Given the description of an element on the screen output the (x, y) to click on. 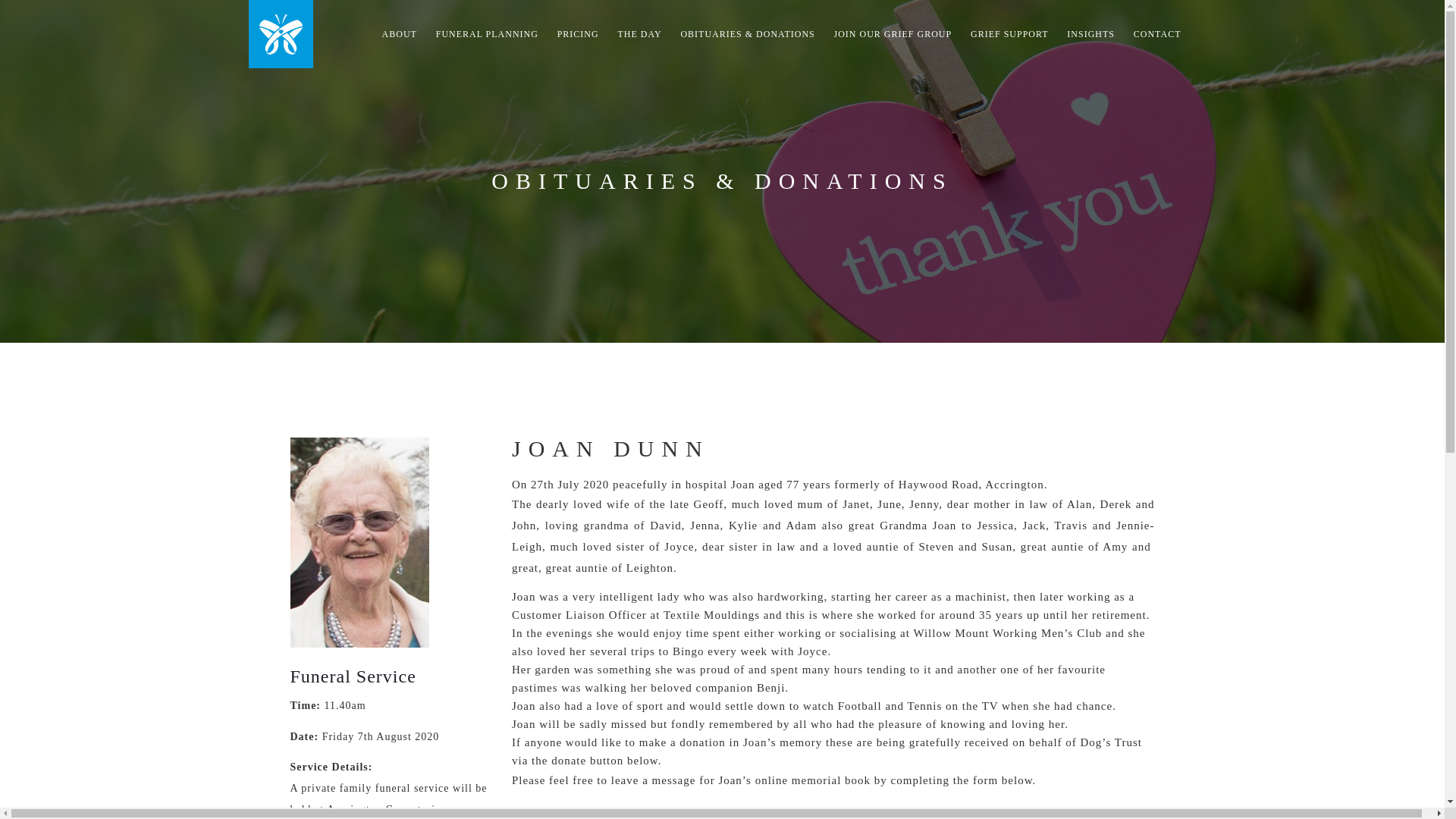
GRIEF SUPPORT (1009, 33)
FUNERAL PLANNING (487, 33)
INSIGHTS (1090, 33)
CONTACT (1157, 33)
JOIN OUR GRIEF GROUP (893, 33)
